Given the description of an element on the screen output the (x, y) to click on. 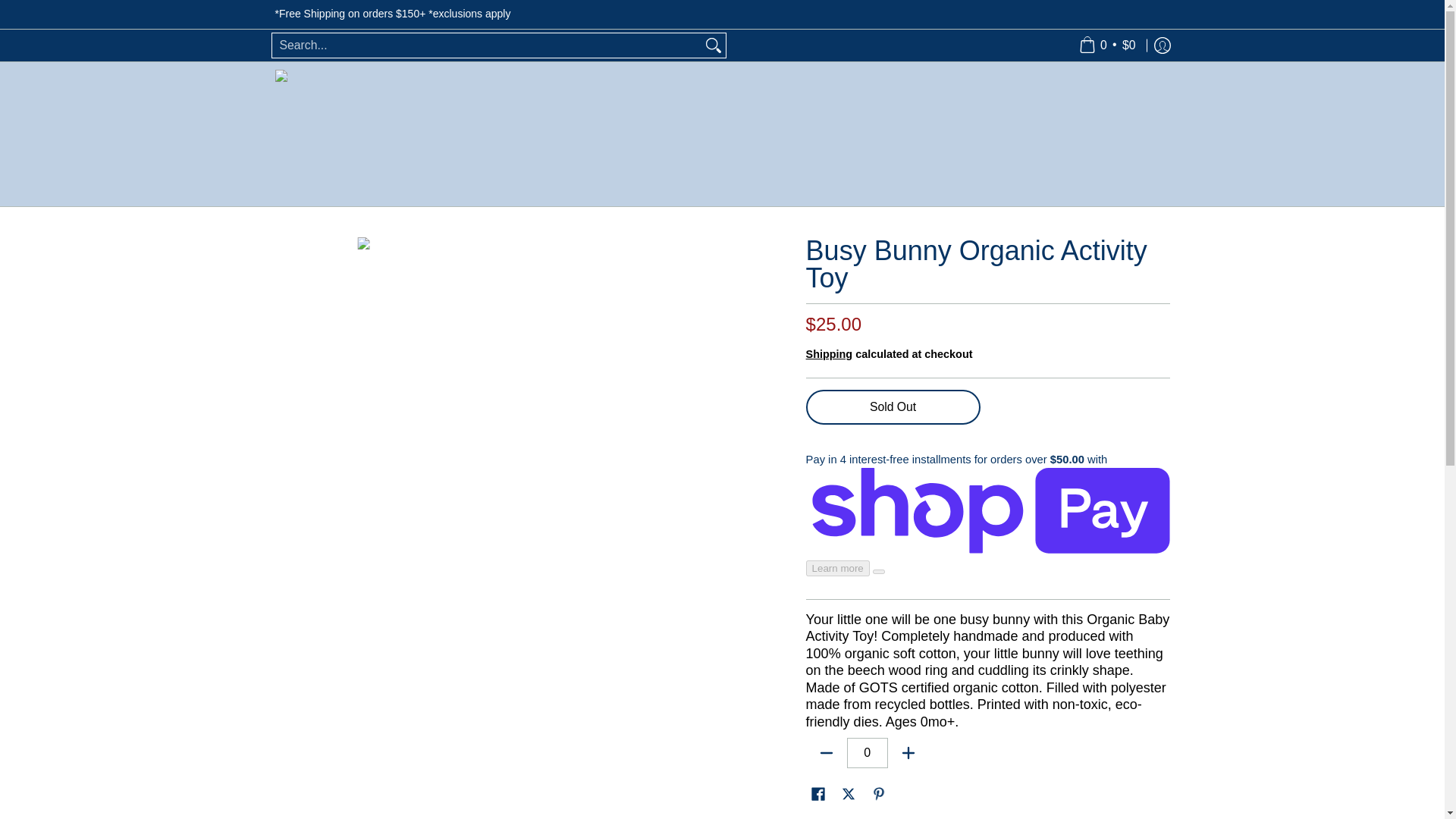
Log in (1161, 44)
Cart (1107, 44)
0 (867, 752)
Twinkle Twinkle Little One (339, 134)
